Given the description of an element on the screen output the (x, y) to click on. 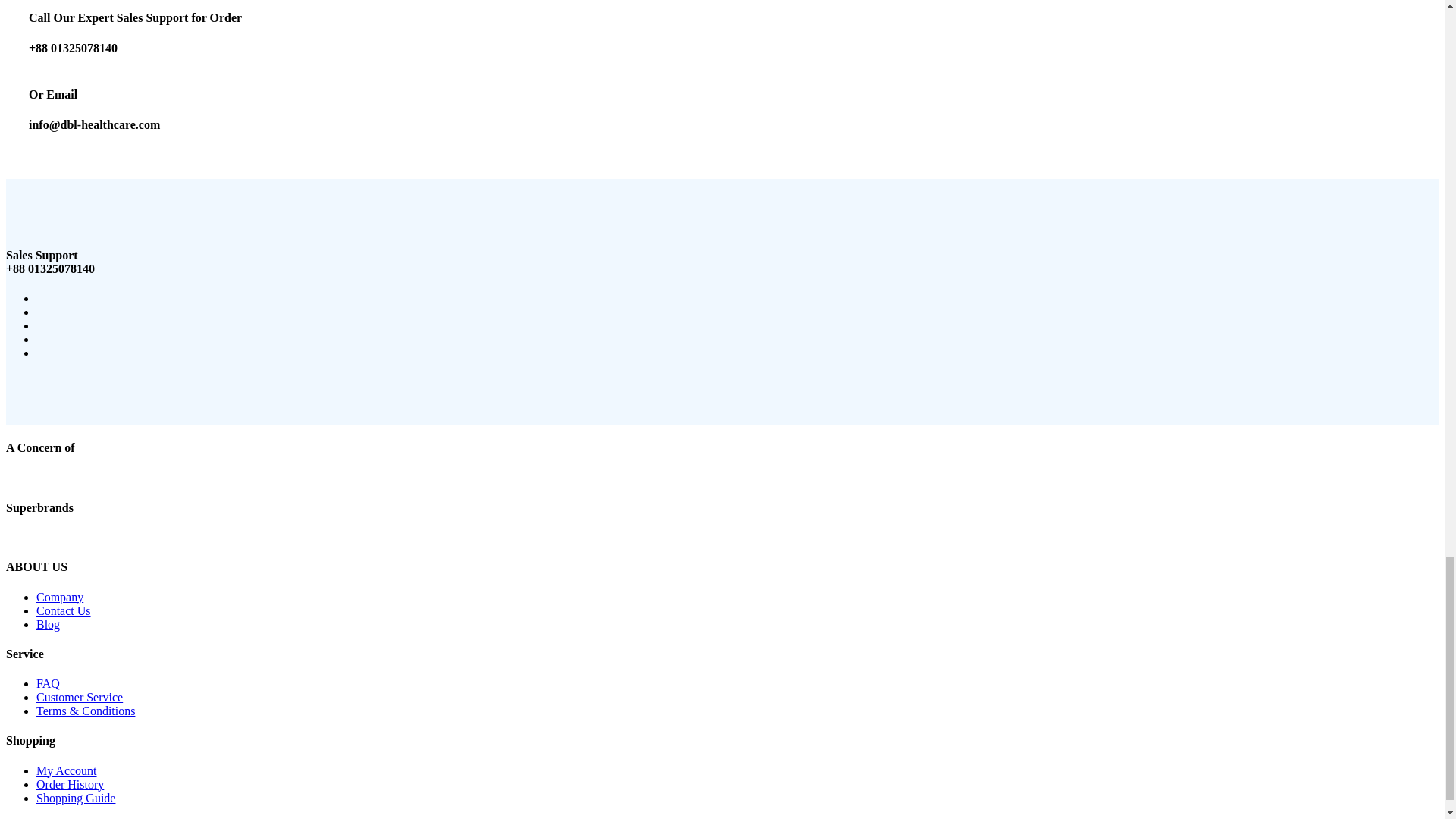
Contact us (66, 770)
Order History (69, 784)
About us (75, 797)
Blog (47, 624)
faq (47, 683)
